Given the description of an element on the screen output the (x, y) to click on. 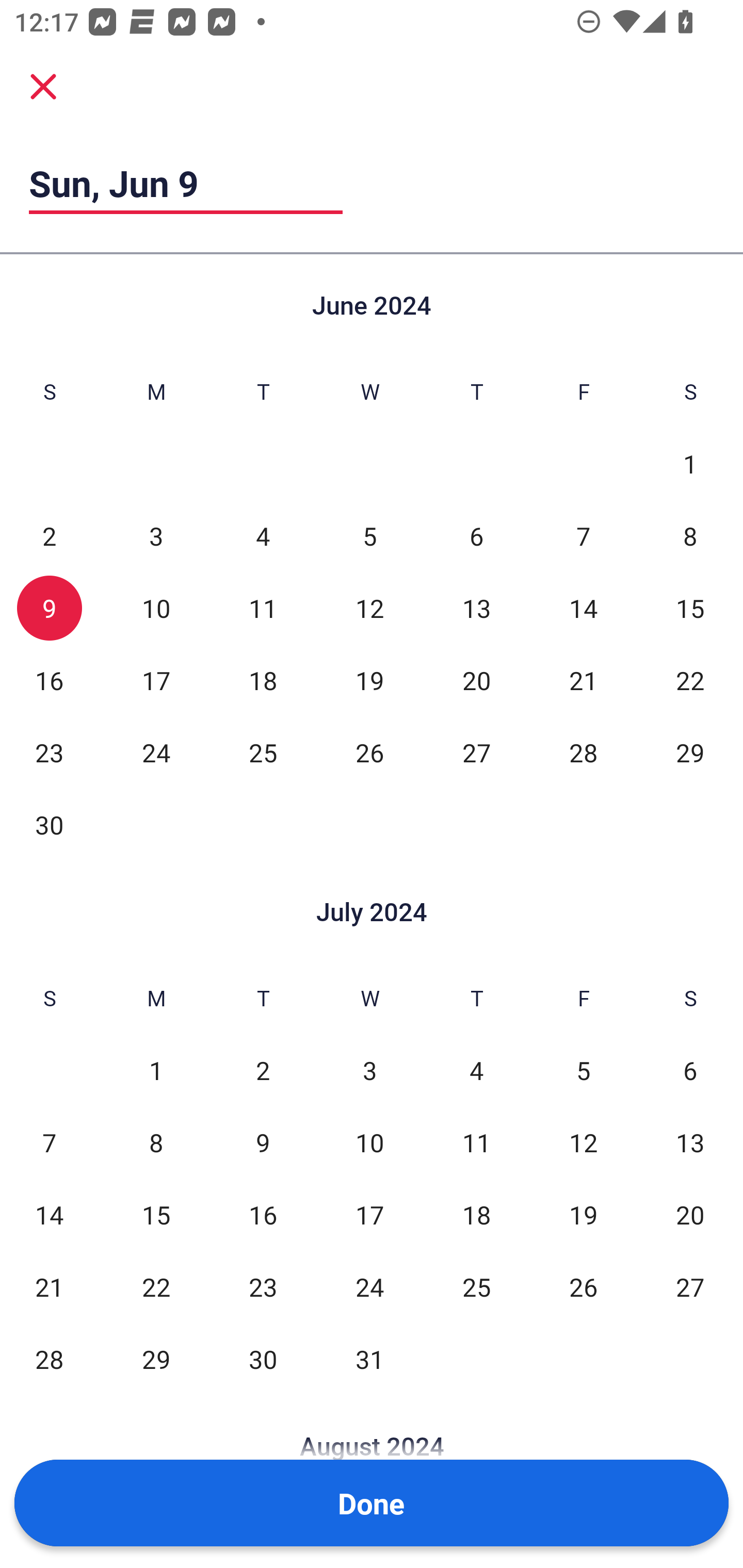
Cancel (43, 86)
Sun, Jun 9 (185, 182)
1 Sat, Jun 1, Not Selected (690, 464)
2 Sun, Jun 2, Not Selected (49, 536)
3 Mon, Jun 3, Not Selected (156, 536)
4 Tue, Jun 4, Not Selected (263, 536)
5 Wed, Jun 5, Not Selected (369, 536)
6 Thu, Jun 6, Not Selected (476, 536)
7 Fri, Jun 7, Not Selected (583, 536)
8 Sat, Jun 8, Not Selected (690, 536)
9 Sun, Jun 9, Selected (49, 608)
10 Mon, Jun 10, Not Selected (156, 608)
11 Tue, Jun 11, Not Selected (263, 608)
12 Wed, Jun 12, Not Selected (369, 608)
13 Thu, Jun 13, Not Selected (476, 608)
14 Fri, Jun 14, Not Selected (583, 608)
15 Sat, Jun 15, Not Selected (690, 608)
16 Sun, Jun 16, Not Selected (49, 680)
17 Mon, Jun 17, Not Selected (156, 680)
18 Tue, Jun 18, Not Selected (263, 680)
19 Wed, Jun 19, Not Selected (369, 680)
20 Thu, Jun 20, Not Selected (476, 680)
21 Fri, Jun 21, Not Selected (583, 680)
22 Sat, Jun 22, Not Selected (690, 680)
23 Sun, Jun 23, Not Selected (49, 752)
24 Mon, Jun 24, Not Selected (156, 752)
25 Tue, Jun 25, Not Selected (263, 752)
26 Wed, Jun 26, Not Selected (369, 752)
27 Thu, Jun 27, Not Selected (476, 752)
28 Fri, Jun 28, Not Selected (583, 752)
29 Sat, Jun 29, Not Selected (690, 752)
30 Sun, Jun 30, Not Selected (49, 824)
1 Mon, Jul 1, Not Selected (156, 1070)
2 Tue, Jul 2, Not Selected (263, 1070)
3 Wed, Jul 3, Not Selected (369, 1070)
4 Thu, Jul 4, Not Selected (476, 1070)
5 Fri, Jul 5, Not Selected (583, 1070)
6 Sat, Jul 6, Not Selected (690, 1070)
7 Sun, Jul 7, Not Selected (49, 1143)
8 Mon, Jul 8, Not Selected (156, 1143)
9 Tue, Jul 9, Not Selected (263, 1143)
10 Wed, Jul 10, Not Selected (369, 1143)
11 Thu, Jul 11, Not Selected (476, 1143)
12 Fri, Jul 12, Not Selected (583, 1143)
13 Sat, Jul 13, Not Selected (690, 1143)
14 Sun, Jul 14, Not Selected (49, 1215)
15 Mon, Jul 15, Not Selected (156, 1215)
16 Tue, Jul 16, Not Selected (263, 1215)
17 Wed, Jul 17, Not Selected (369, 1215)
18 Thu, Jul 18, Not Selected (476, 1215)
19 Fri, Jul 19, Not Selected (583, 1215)
20 Sat, Jul 20, Not Selected (690, 1215)
21 Sun, Jul 21, Not Selected (49, 1287)
22 Mon, Jul 22, Not Selected (156, 1287)
23 Tue, Jul 23, Not Selected (263, 1287)
24 Wed, Jul 24, Not Selected (369, 1287)
25 Thu, Jul 25, Not Selected (476, 1287)
26 Fri, Jul 26, Not Selected (583, 1287)
27 Sat, Jul 27, Not Selected (690, 1287)
28 Sun, Jul 28, Not Selected (49, 1359)
29 Mon, Jul 29, Not Selected (156, 1359)
30 Tue, Jul 30, Not Selected (263, 1359)
31 Wed, Jul 31, Not Selected (369, 1359)
Done Button Done (371, 1502)
